Given the description of an element on the screen output the (x, y) to click on. 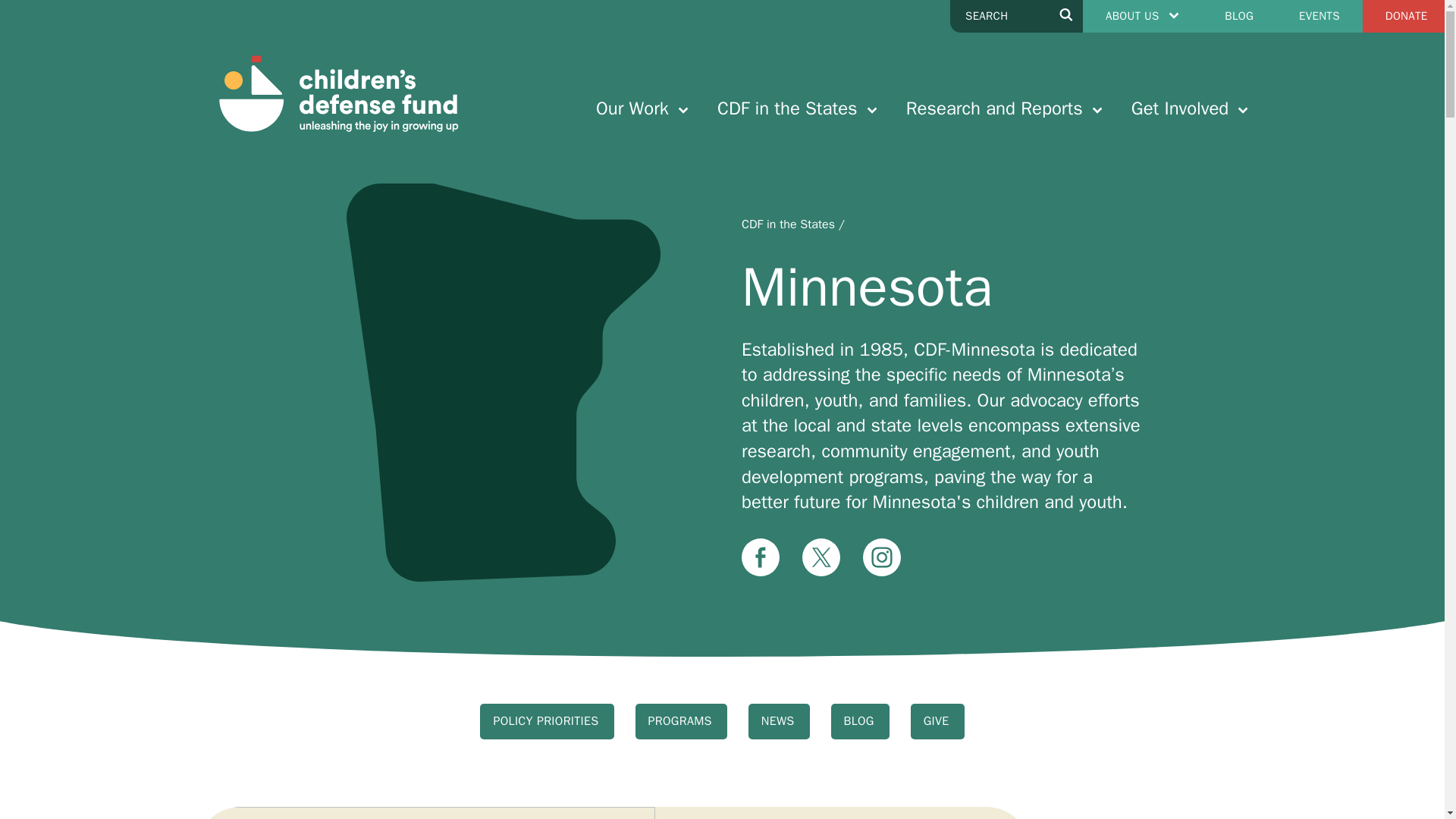
Children's Defense Fund (337, 93)
BLOG (1239, 16)
EVENTS (1319, 16)
Submit search (1066, 16)
ABOUT US (1142, 16)
CDF in the States (797, 107)
Our Work (641, 107)
